Given the description of an element on the screen output the (x, y) to click on. 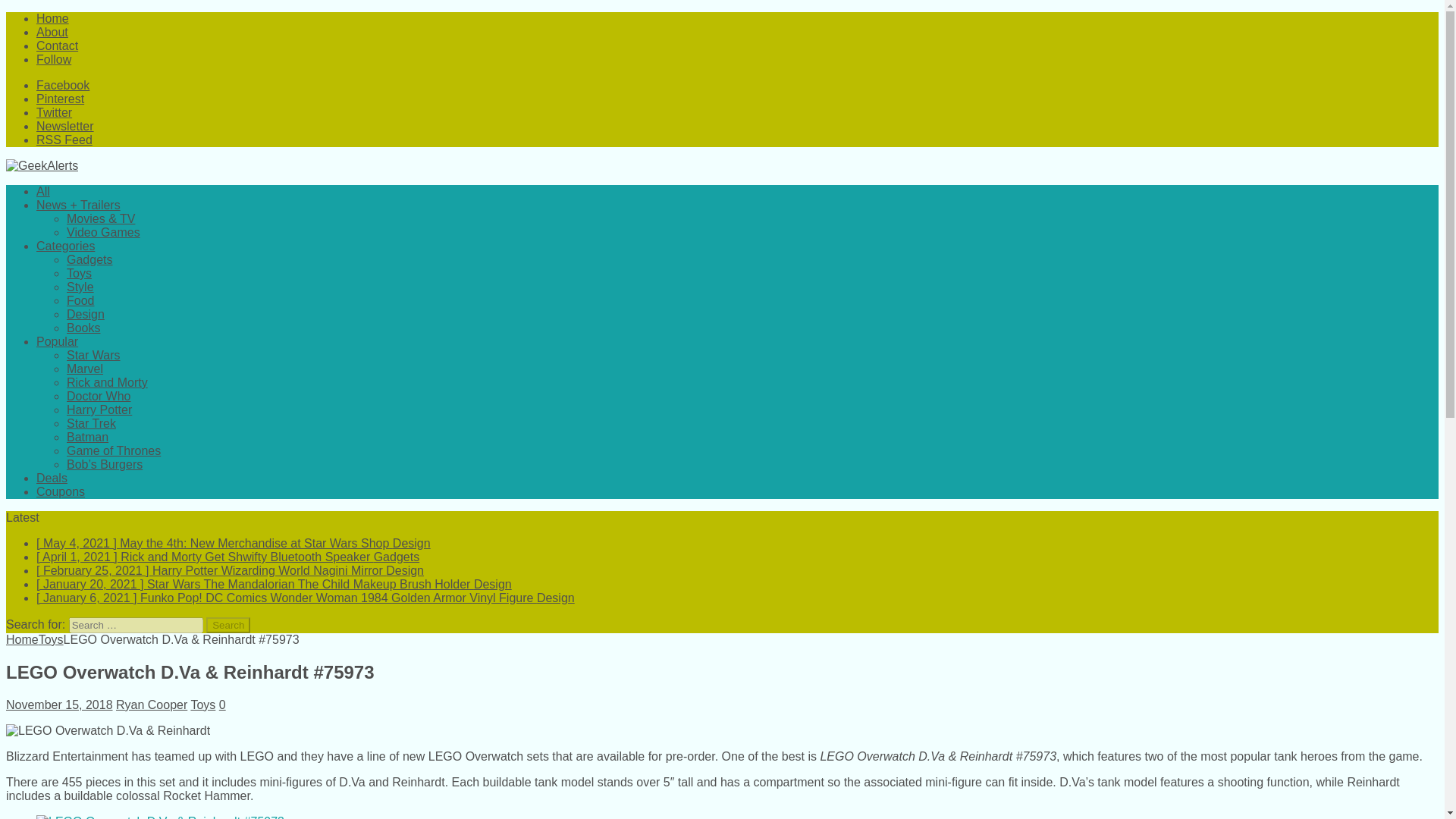
Popular (57, 341)
Game of Thrones (113, 450)
Star Wars (93, 354)
Rick and Morty (107, 382)
Home (22, 639)
Rick and Morty Get Shwifty Bluetooth Speaker (227, 556)
Marvel (84, 368)
Star Trek (91, 422)
Food (80, 300)
Search (228, 625)
Deals (51, 477)
Newsletter (65, 125)
Contact (57, 45)
Facebook (62, 84)
About (52, 31)
